Given the description of an element on the screen output the (x, y) to click on. 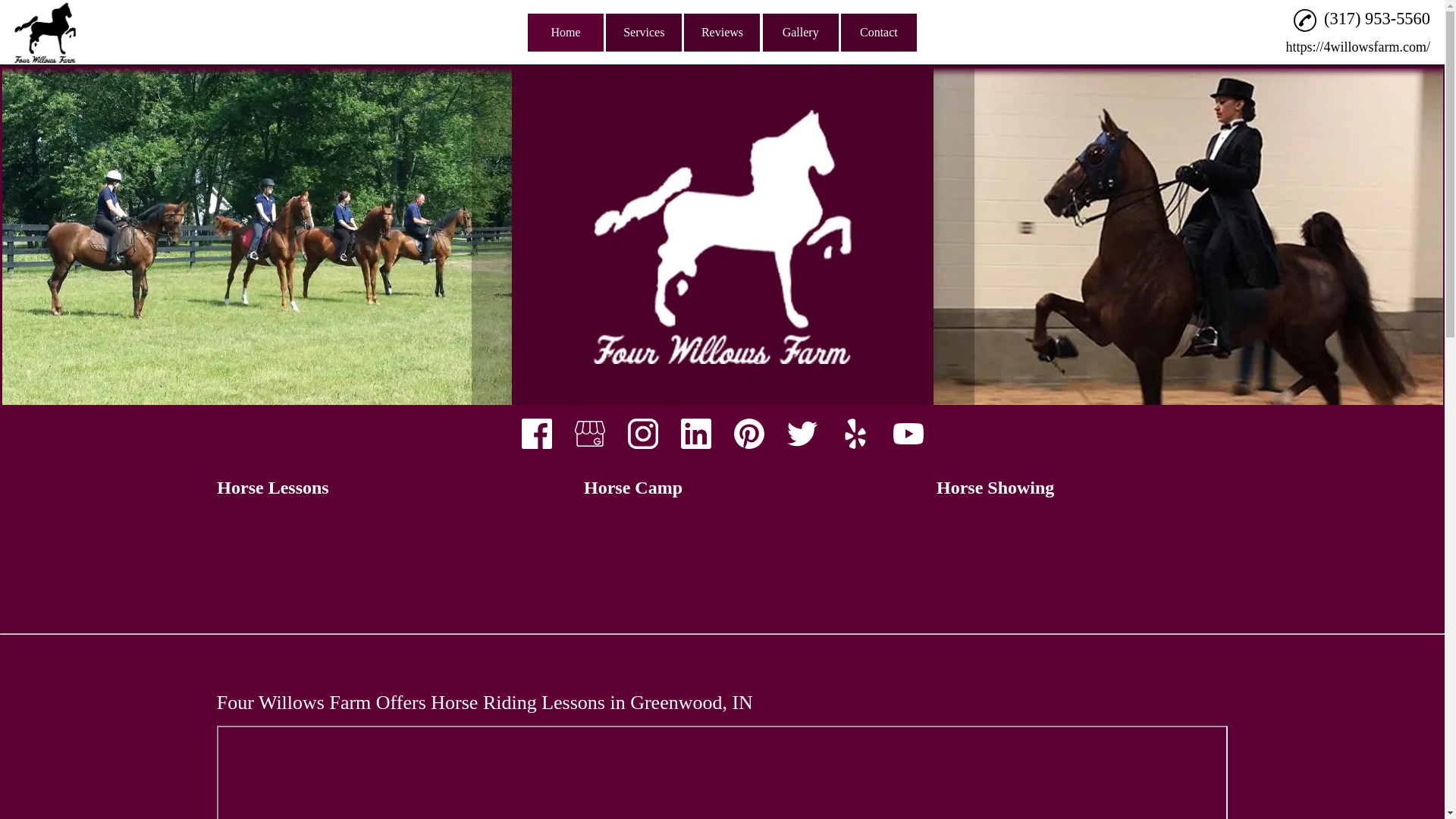
LinkedIn (695, 435)
Yelp (854, 435)
Instagram (642, 433)
Google My Business (590, 433)
Youtube (907, 435)
Facebook (535, 435)
Gallery (800, 32)
Facebook (536, 433)
Instagram (641, 435)
Pinterest (748, 433)
